Given the description of an element on the screen output the (x, y) to click on. 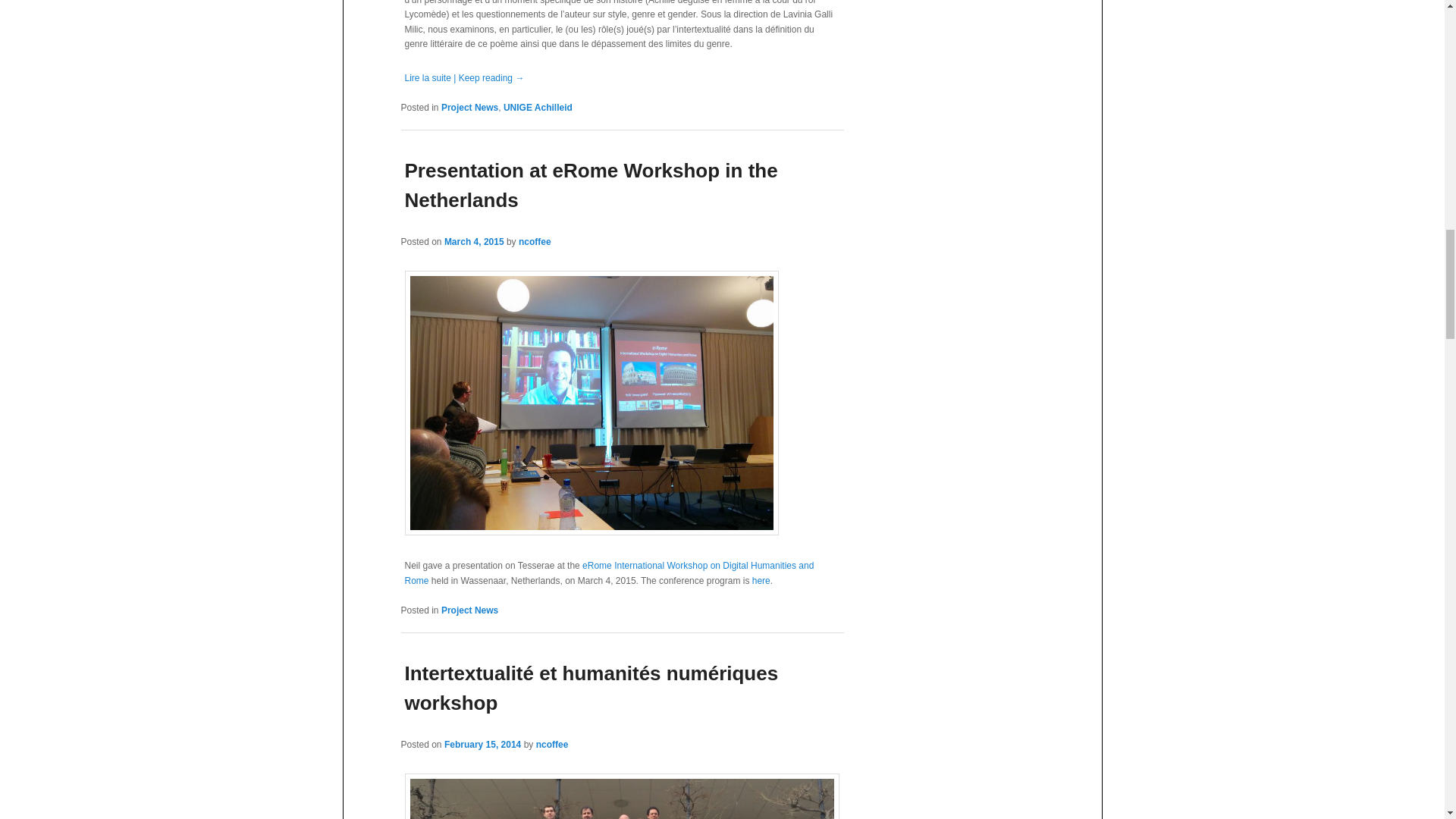
Project News (469, 107)
10:21 pm (482, 744)
View all posts by ncoffee (534, 241)
UNIGE Achilleid (537, 107)
Presentation at eRome Workshop in the Netherlands (590, 184)
3:57 pm (473, 241)
View all posts by ncoffee (552, 744)
